Given the description of an element on the screen output the (x, y) to click on. 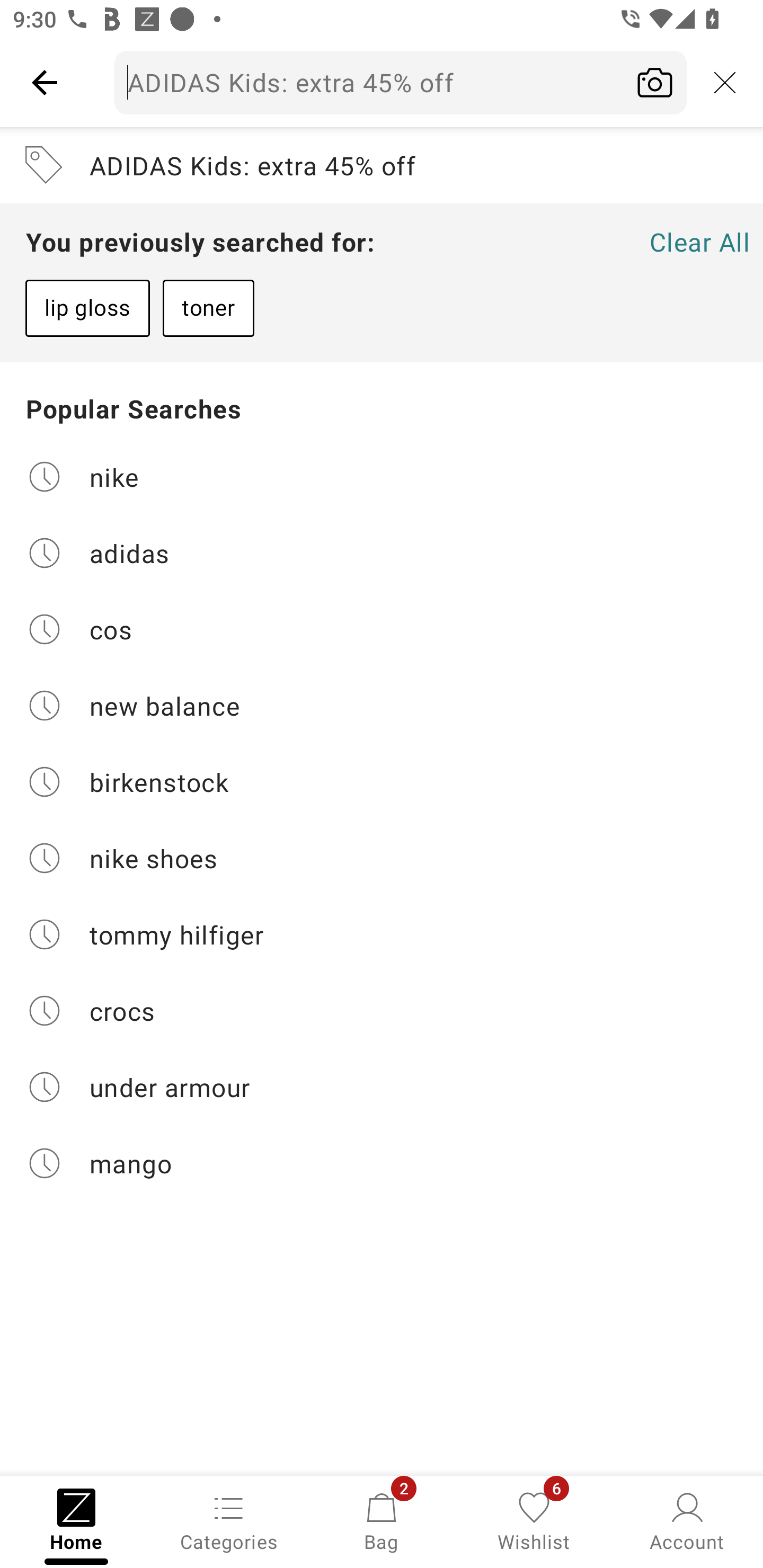
Navigate up (44, 82)
ADIDAS Kids: extra 45% off (400, 82)
ADIDAS Kids: extra 45% off (381, 165)
Clear All (699, 241)
lip gloss (87, 308)
toner (208, 308)
nike (381, 476)
adidas (381, 552)
cos (381, 629)
new balance (381, 705)
birkenstock (381, 781)
nike shoes (381, 858)
tommy hilfiger (381, 934)
crocs (381, 1010)
under armour (381, 1086)
mango (381, 1163)
Categories (228, 1519)
Bag, 2 new notifications Bag (381, 1519)
Wishlist, 6 new notifications Wishlist (533, 1519)
Account (686, 1519)
